Given the description of an element on the screen output the (x, y) to click on. 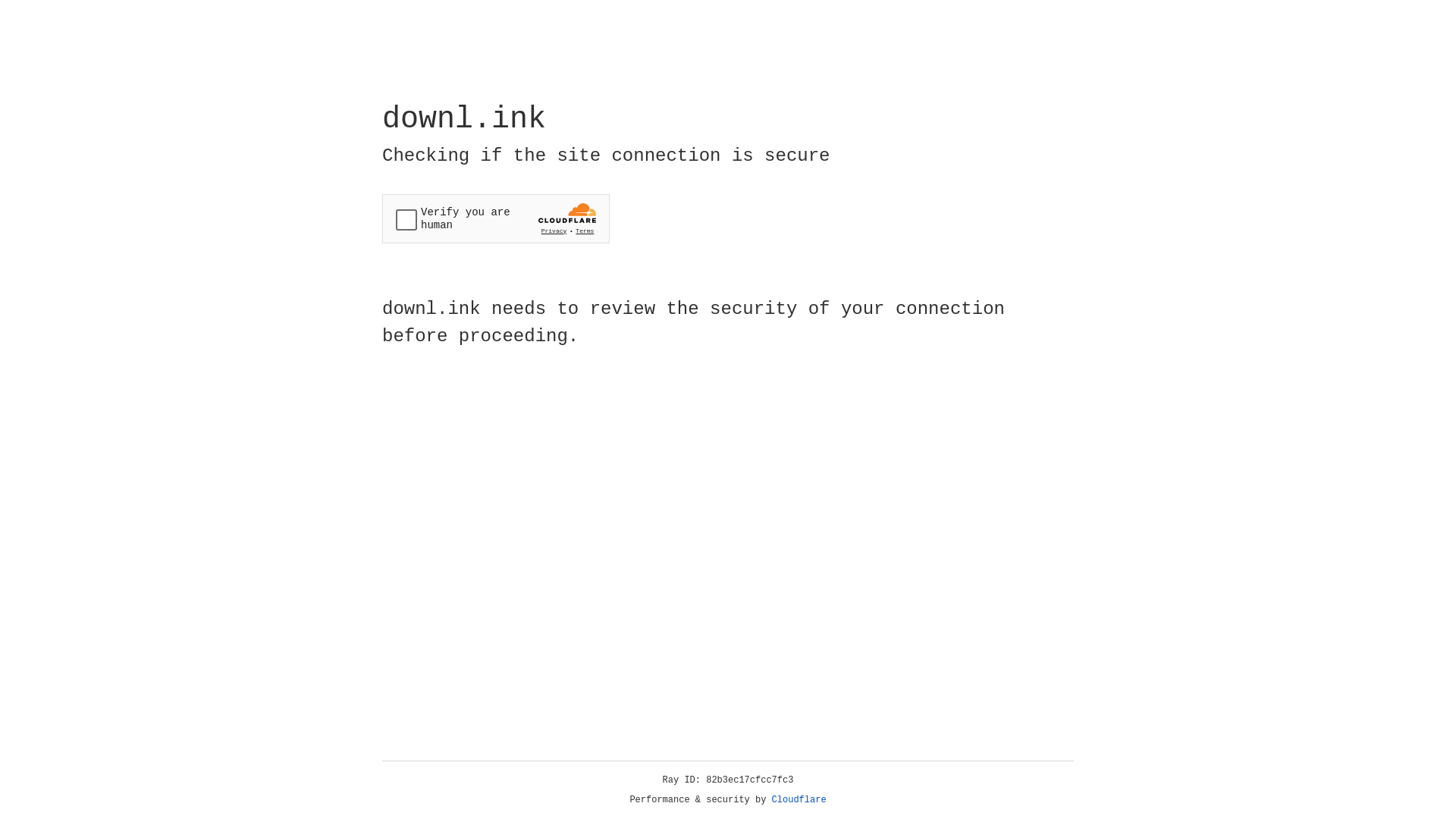
Widget containing a Cloudflare security challenge Element type: hover (495, 218)
Cloudflare Element type: text (798, 799)
